Given the description of an element on the screen output the (x, y) to click on. 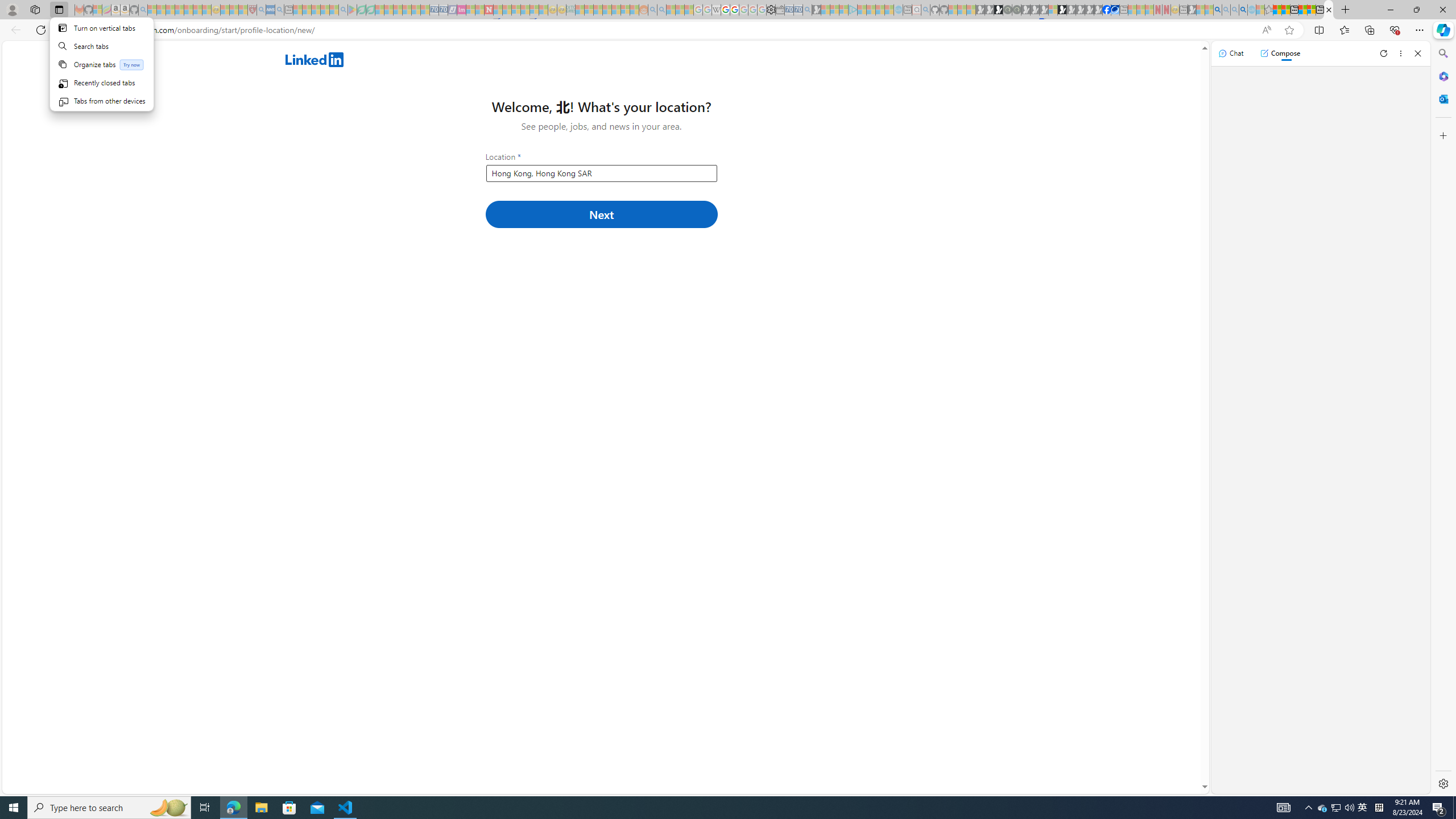
MSN - Sleeping (1191, 9)
Terms of Use Agreement - Sleeping (361, 9)
